Given the description of an element on the screen output the (x, y) to click on. 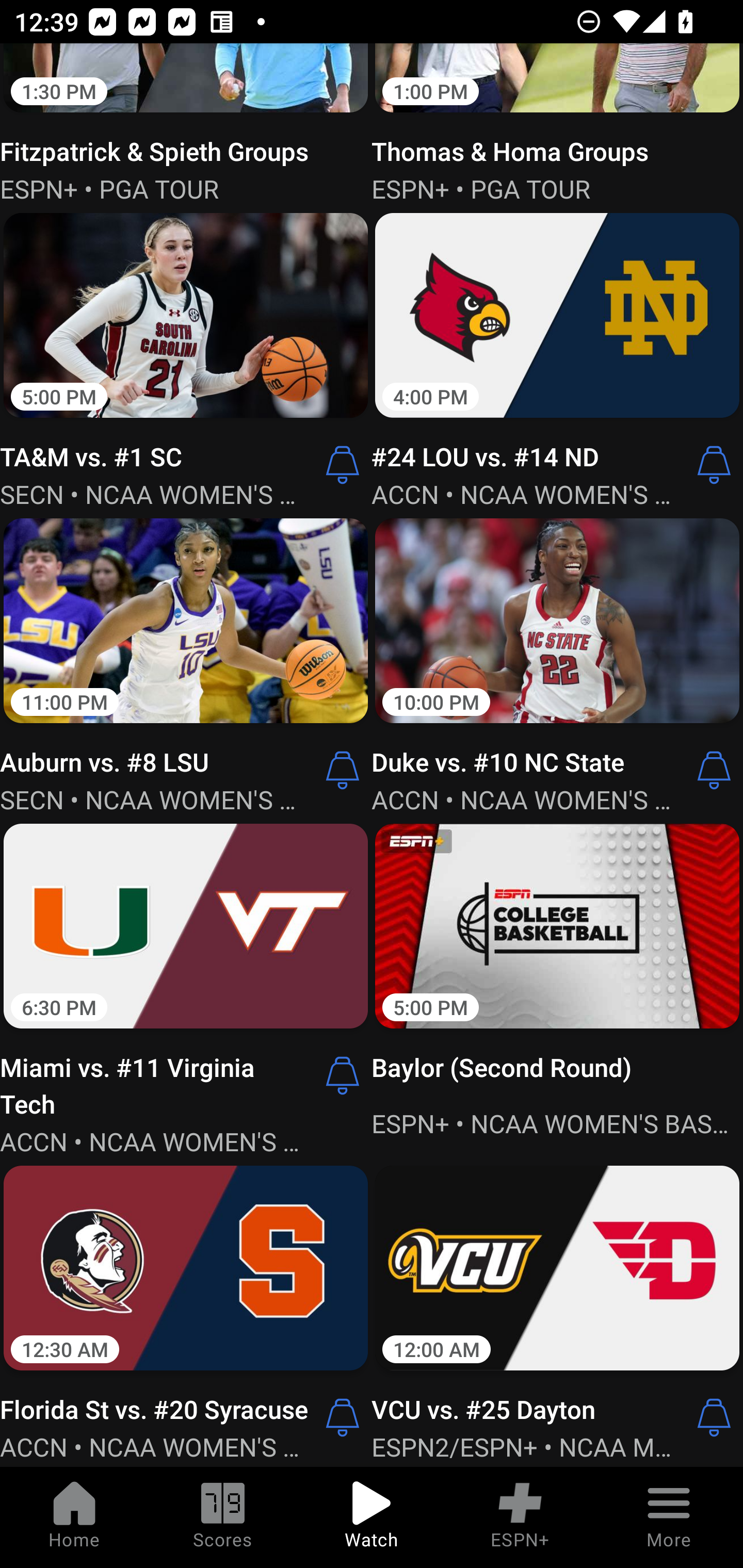
Alerts (342, 464)
Alerts (714, 464)
Alerts (342, 770)
Alerts (714, 770)
Alerts (342, 1074)
Alerts (342, 1417)
Alerts (714, 1417)
Home (74, 1517)
Scores (222, 1517)
ESPN+ (519, 1517)
More (668, 1517)
